Given the description of an element on the screen output the (x, y) to click on. 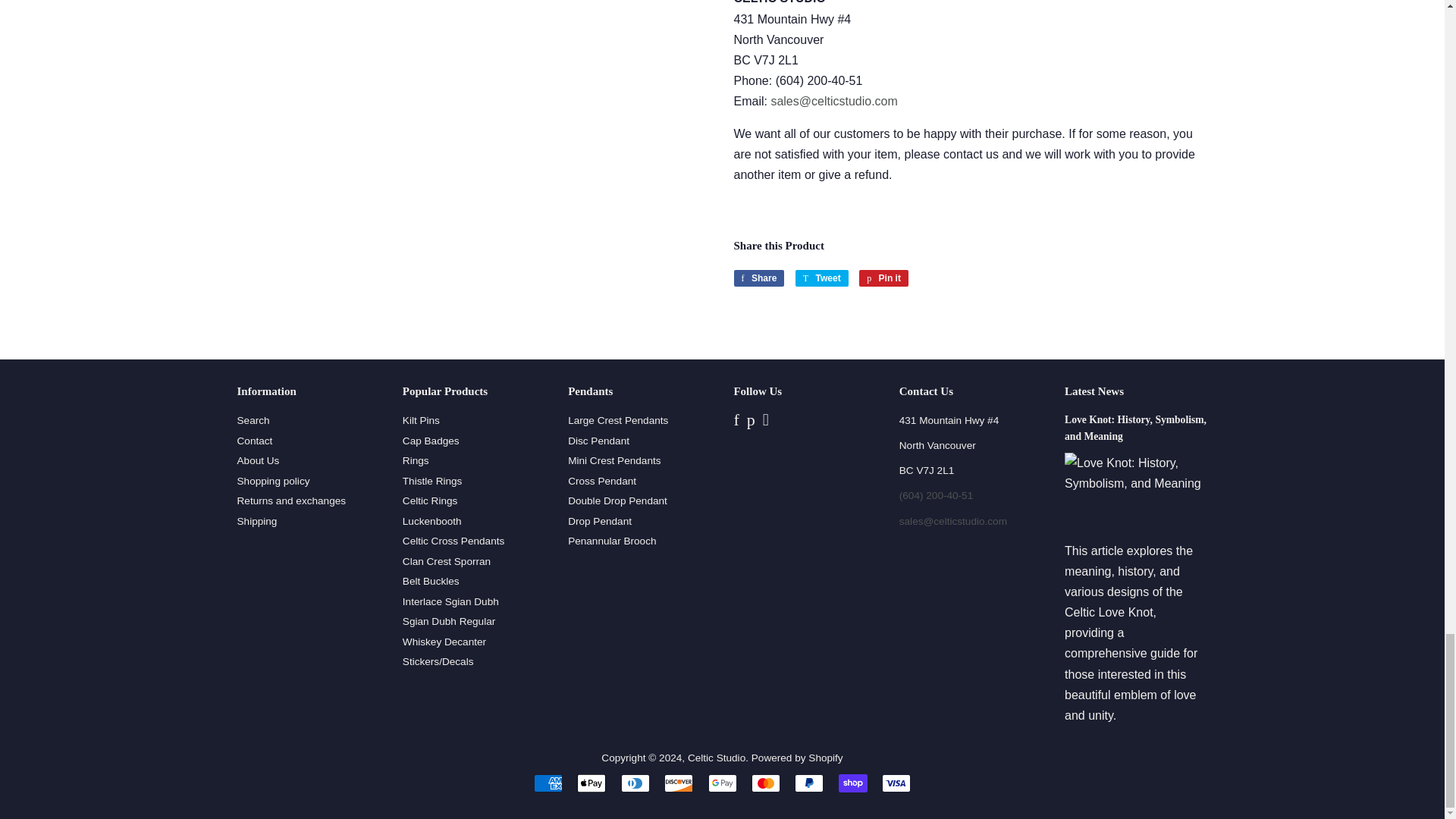
Phone number (936, 495)
Discover (678, 782)
Share on Facebook (758, 278)
Shop Pay (852, 782)
Google Pay (721, 782)
American Express (548, 782)
Visa (896, 782)
Tweet on Twitter (821, 278)
mail (953, 521)
Pin on Pinterest (883, 278)
Diners Club (635, 782)
Mastercard (765, 782)
Apple Pay (590, 782)
PayPal (809, 782)
